Given the description of an element on the screen output the (x, y) to click on. 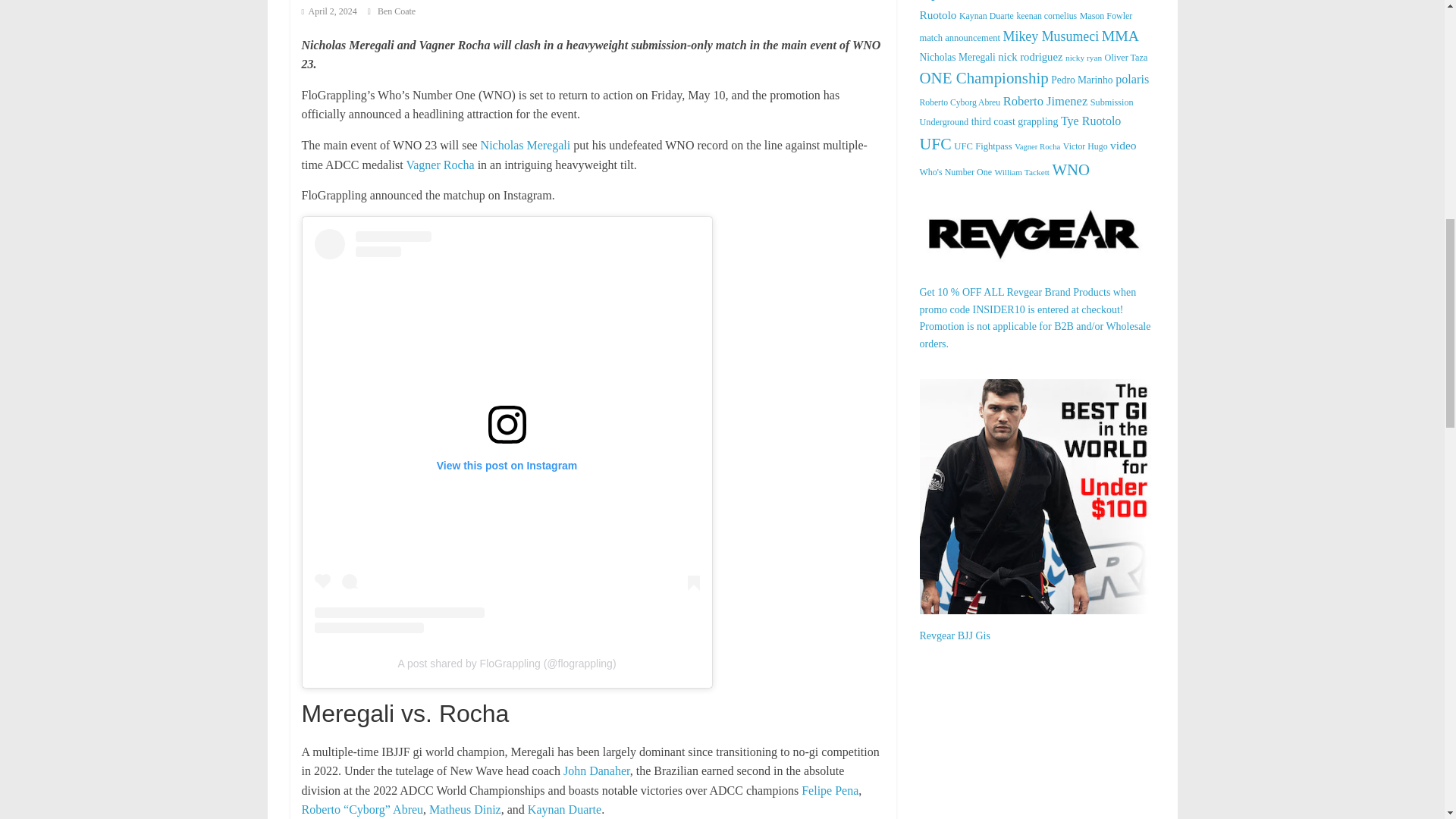
Nicholas Meregali (525, 144)
John Danaher (596, 770)
Felipe Pena (830, 789)
Ben Coate (395, 10)
Matheus Diniz (464, 809)
Vagner Rocha (440, 164)
5:09 pm (328, 10)
Ben Coate (395, 10)
Kaynan Duarte (564, 809)
April 2, 2024 (328, 10)
